Given the description of an element on the screen output the (x, y) to click on. 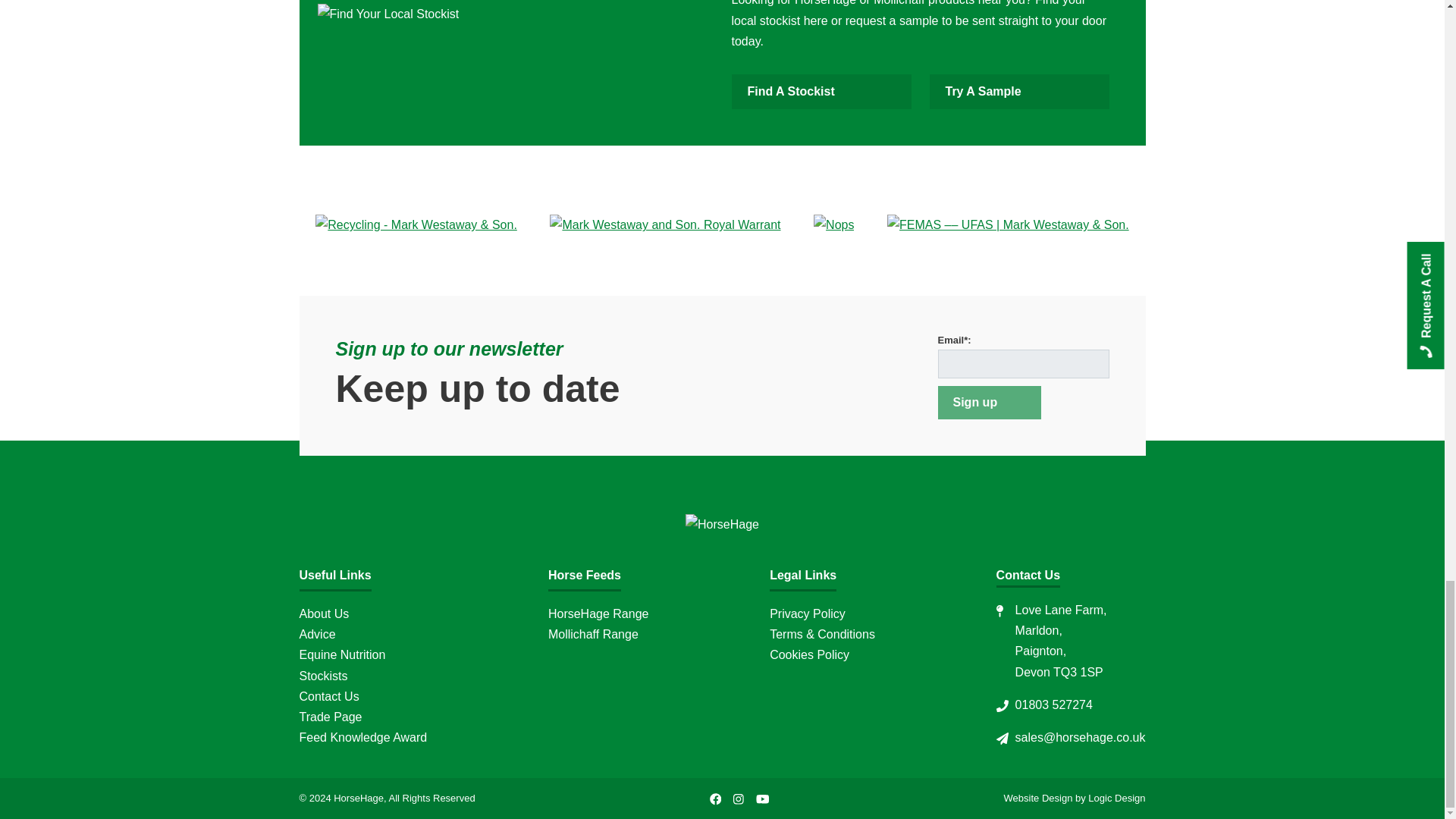
Try A Sample (1019, 91)
Find A Stockist (820, 91)
